Given the description of an element on the screen output the (x, y) to click on. 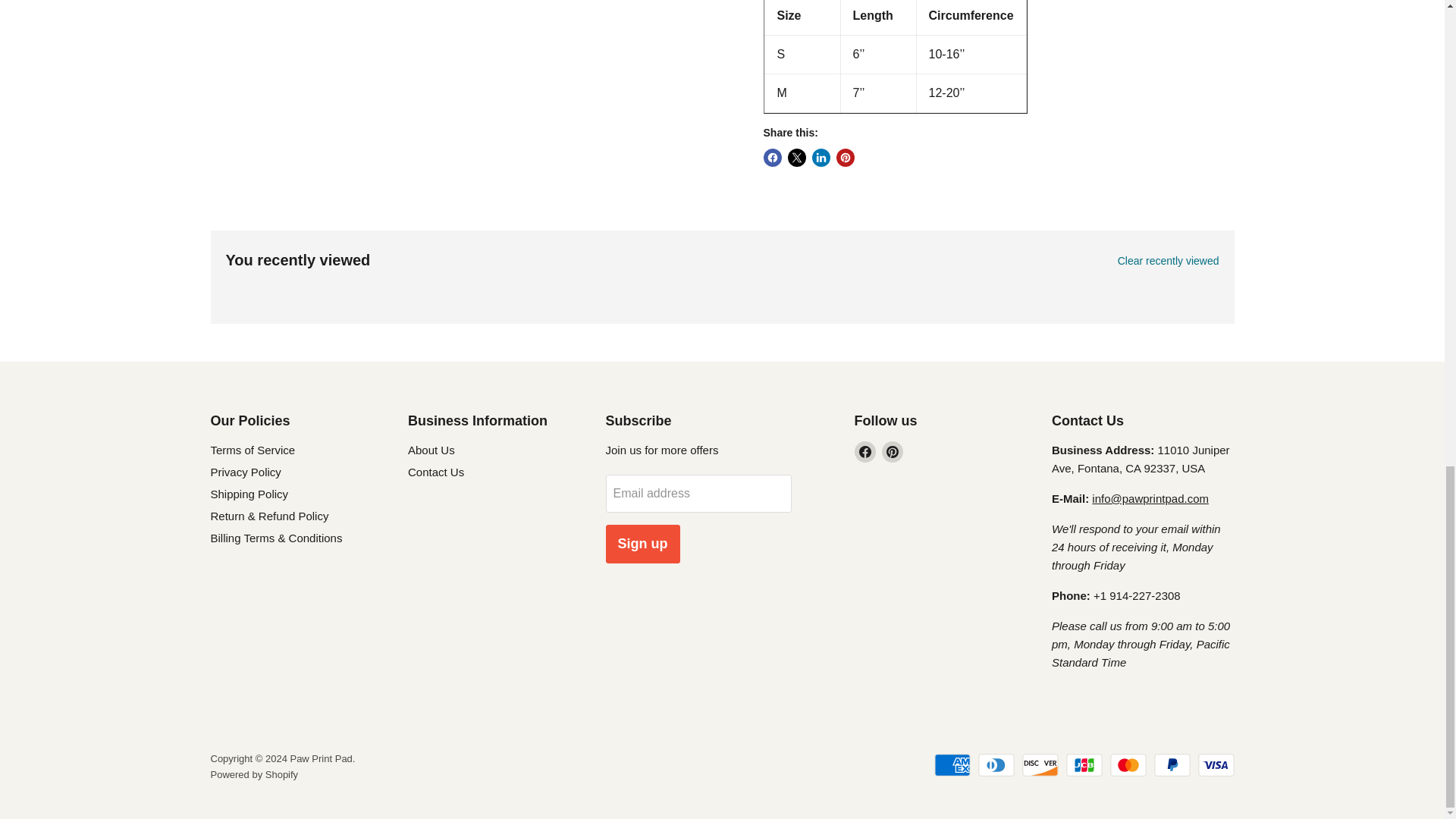
Mastercard (1128, 764)
Discover (1040, 764)
Pinterest (891, 451)
American Express (952, 764)
Facebook (864, 451)
PayPal (1172, 764)
Diners Club (996, 764)
JCB (1083, 764)
